Given the description of an element on the screen output the (x, y) to click on. 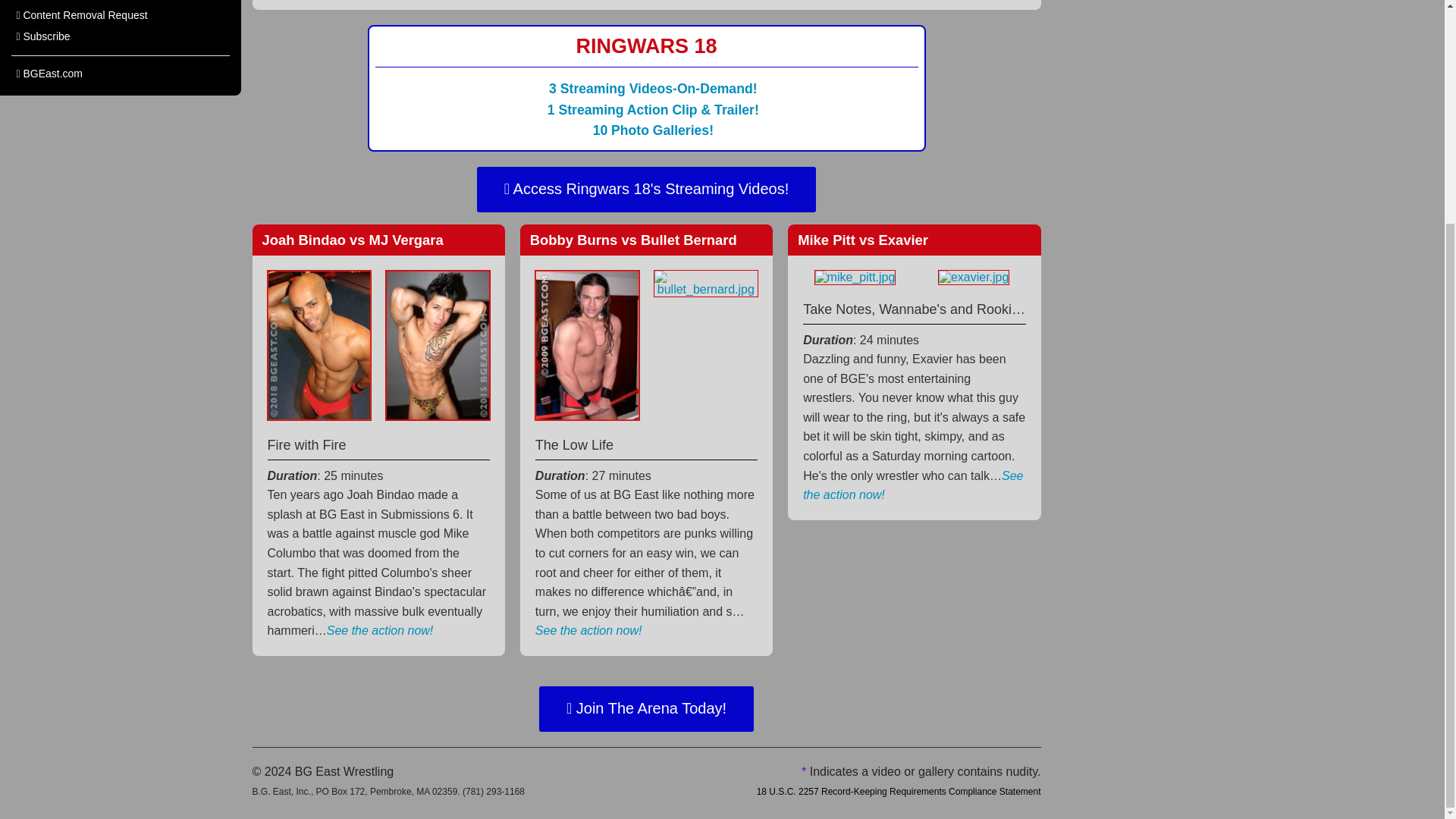
Access Ringwars 18's Streaming Videos! (646, 189)
Joah Bindao vs MJ Vergara (353, 239)
Take Notes, Wannabe's and Rookieboys, Take Notes! (914, 308)
Join Today! (652, 109)
Join Today! (646, 440)
Joah Bindao vs MJ Vergara (379, 239)
Join Today! (914, 305)
MJ Vergara (437, 344)
Fire with Fire (378, 445)
Bobby Burns vs Bullet Bernard (645, 239)
